Given the description of an element on the screen output the (x, y) to click on. 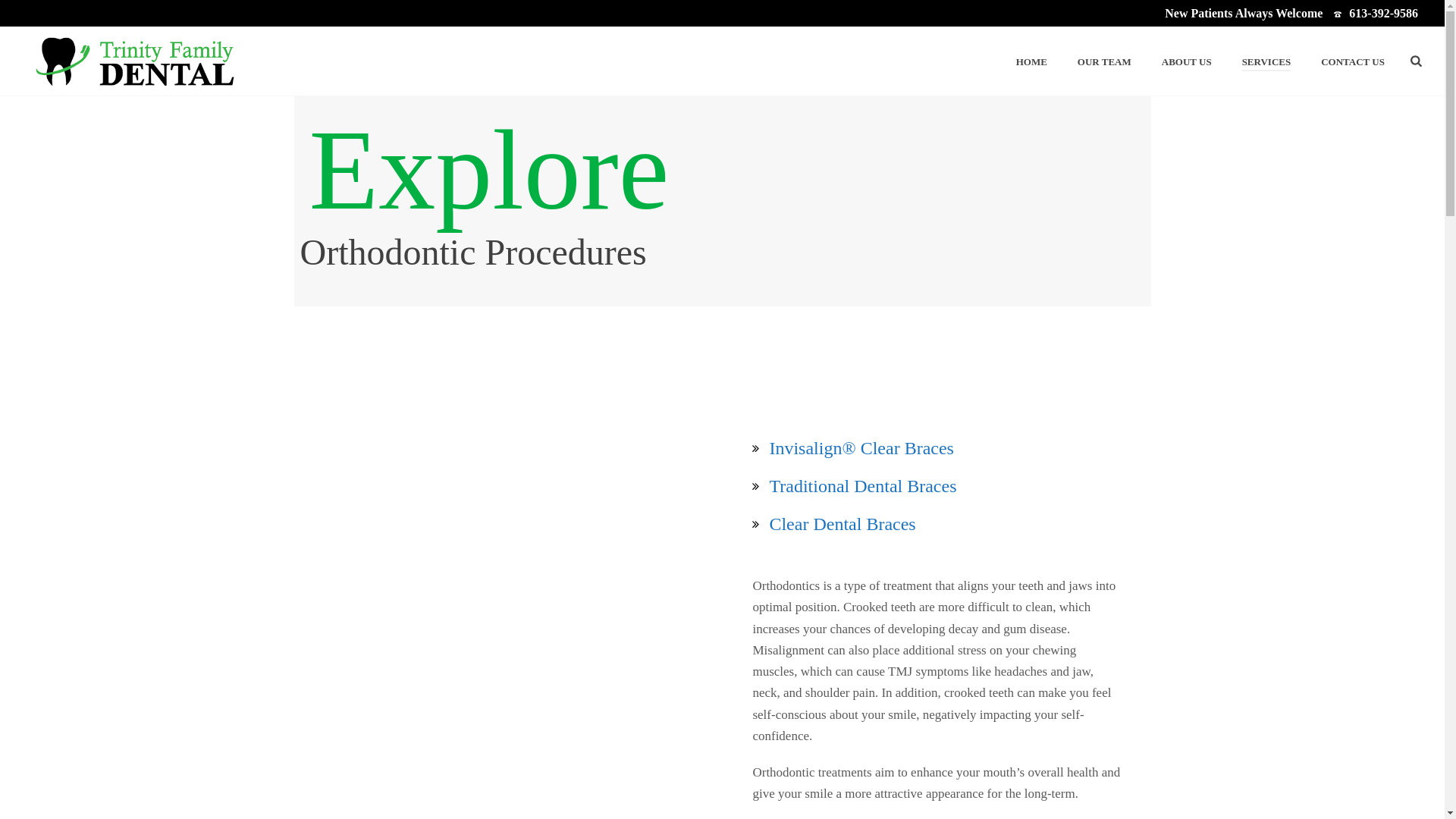
613-392-9586 (1383, 12)
SERVICES (1266, 62)
OUR TEAM (1104, 62)
SERVICES (1266, 62)
ABOUT US (1187, 62)
CONTACT US (1352, 62)
CONTACT US (1352, 62)
OUR TEAM (1104, 62)
HOME (1031, 62)
ABOUT US (1187, 62)
